Given the description of an element on the screen output the (x, y) to click on. 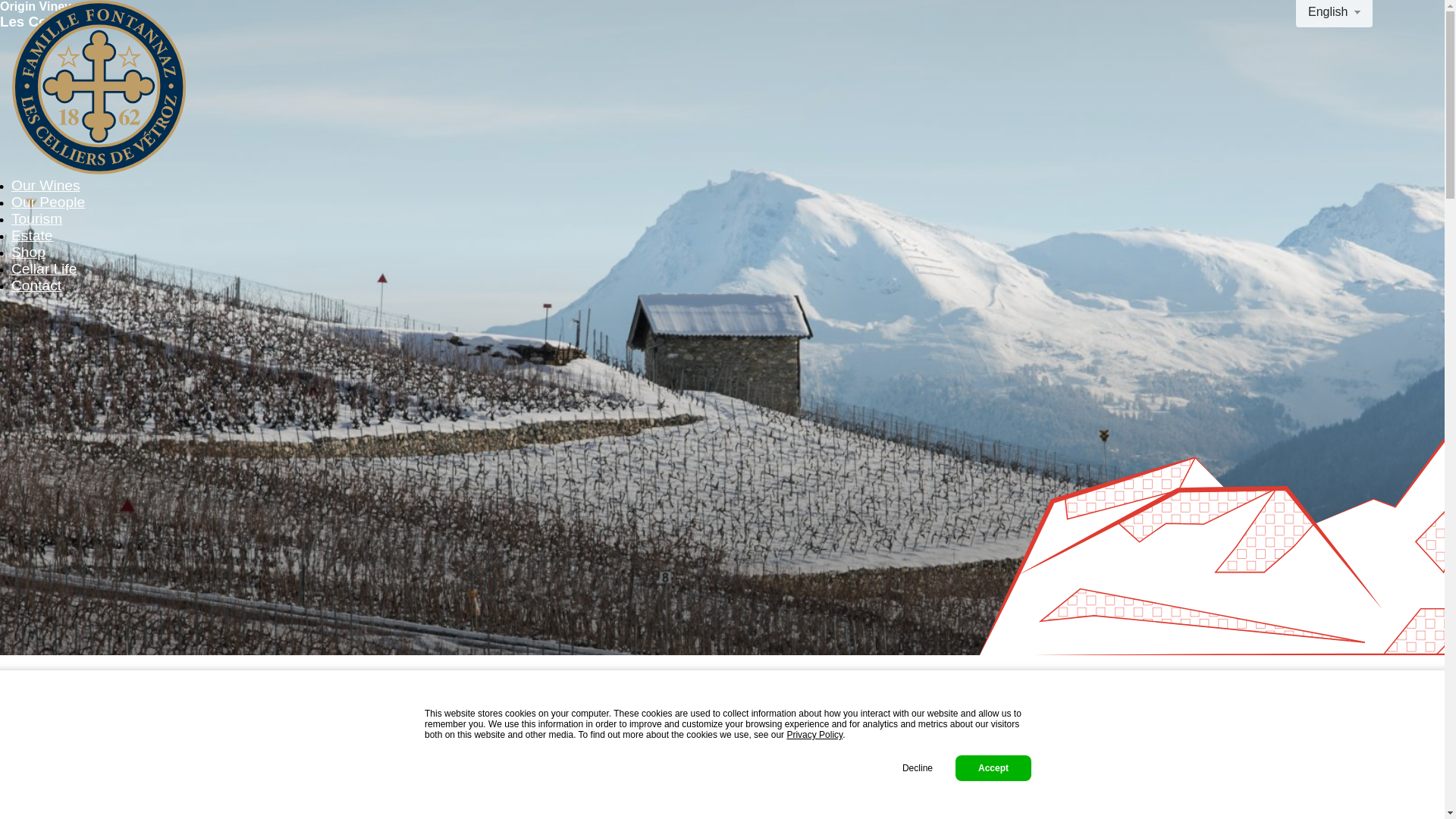
Tourism Element type: text (36, 218)
Shop Element type: text (28, 252)
Privacy Policy Element type: text (814, 734)
Cellar Life Element type: text (43, 268)
Our Wines Element type: text (45, 185)
Our People Element type: text (47, 202)
Contact Element type: text (36, 285)
Estate Element type: text (31, 235)
